Given the description of an element on the screen output the (x, y) to click on. 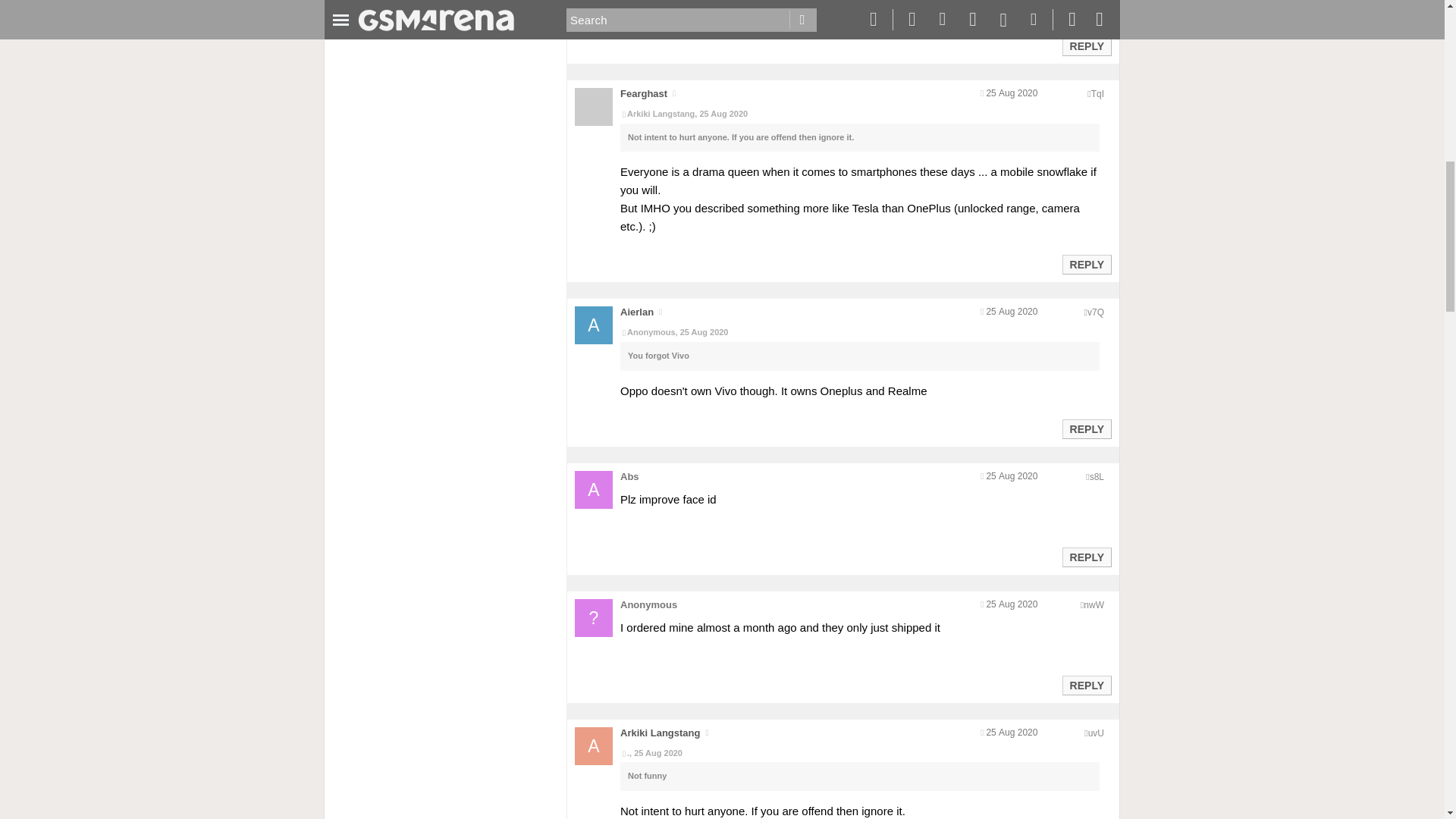
Reply to this post (1086, 557)
Encoded anonymized location (1096, 476)
Reply to this post (1086, 428)
Encoded anonymized location (1095, 312)
Reply to this post (1086, 264)
Encoded anonymized location (1095, 733)
Reply to this post (1086, 46)
Encoded anonymized location (1096, 93)
Reply to this post (1086, 685)
Encoded anonymized location (1093, 604)
